Given the description of an element on the screen output the (x, y) to click on. 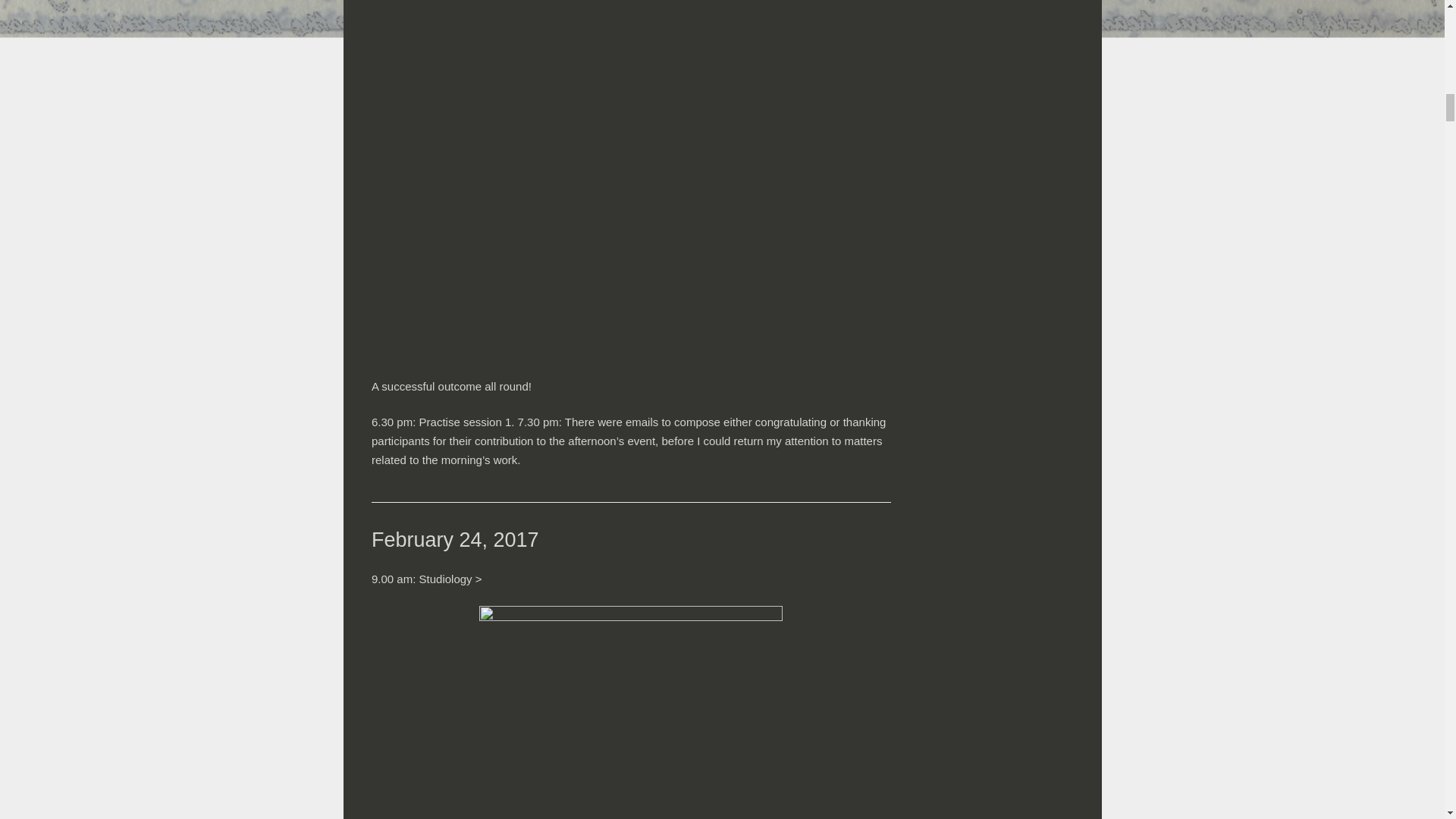
February 24, 2017 (454, 539)
